Given the description of an element on the screen output the (x, y) to click on. 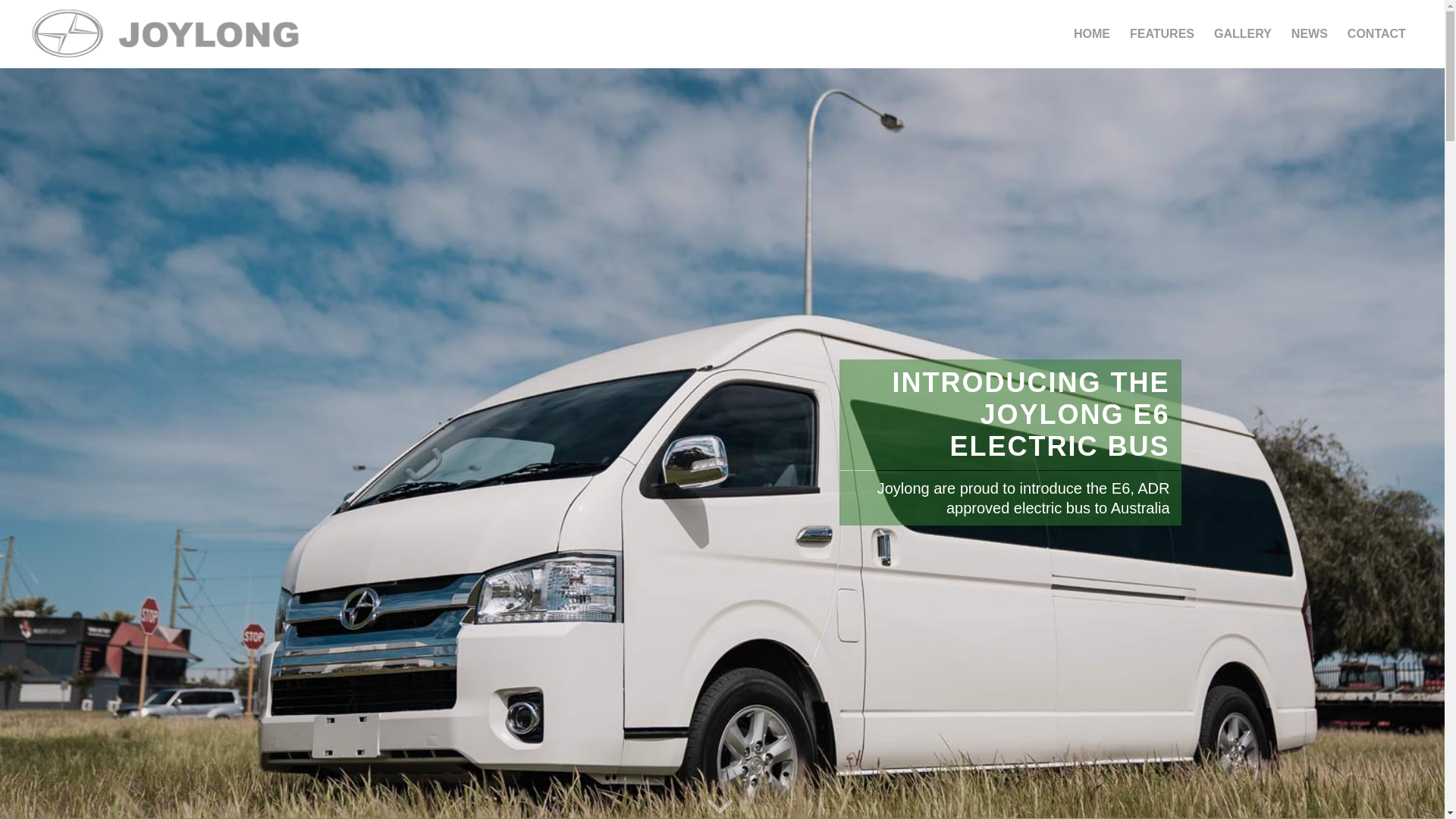
joylongLogo Element type: hover (164, 34)
CONTACT Element type: text (1376, 34)
NEWS Element type: text (1309, 34)
GALLERY Element type: text (1242, 34)
HOME Element type: text (1091, 34)
FEATURES Element type: text (1162, 34)
